Given the description of an element on the screen output the (x, y) to click on. 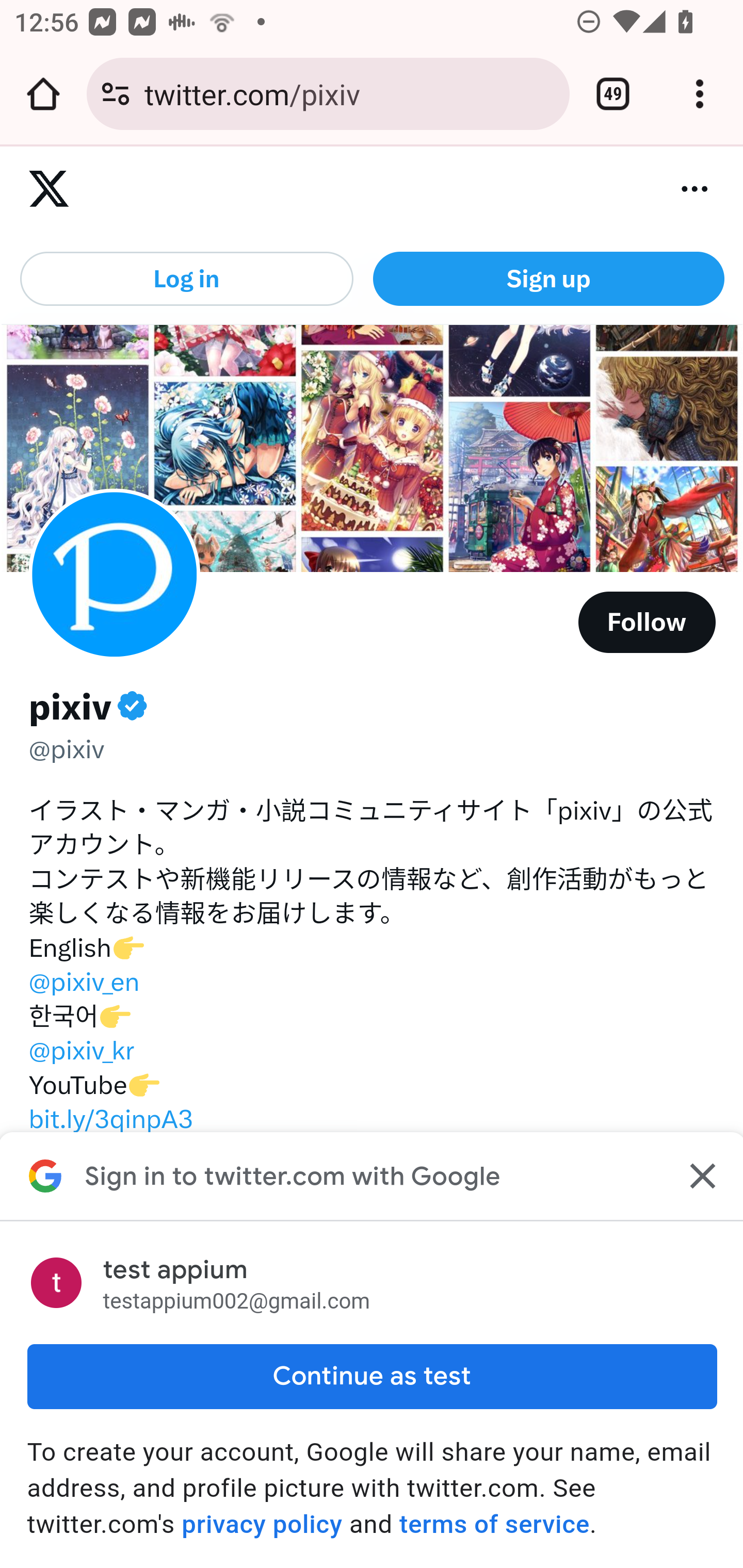
Open the home page (43, 93)
Connection is secure (115, 93)
Switch or close tabs (612, 93)
Customize and control Google Chrome (699, 93)
twitter.com/pixiv (349, 92)
Follow @pixiv (647, 621)
Provides details about verified accounts. (131, 705)
@pixiv_en (83, 981)
@pixiv_kr (80, 1050)
bit.ly/3qinpA3 (110, 1118)
Close (700, 1175)
Continue as test (371, 1376)
privacy policy (261, 1523)
terms of service (493, 1523)
